Given the description of an element on the screen output the (x, y) to click on. 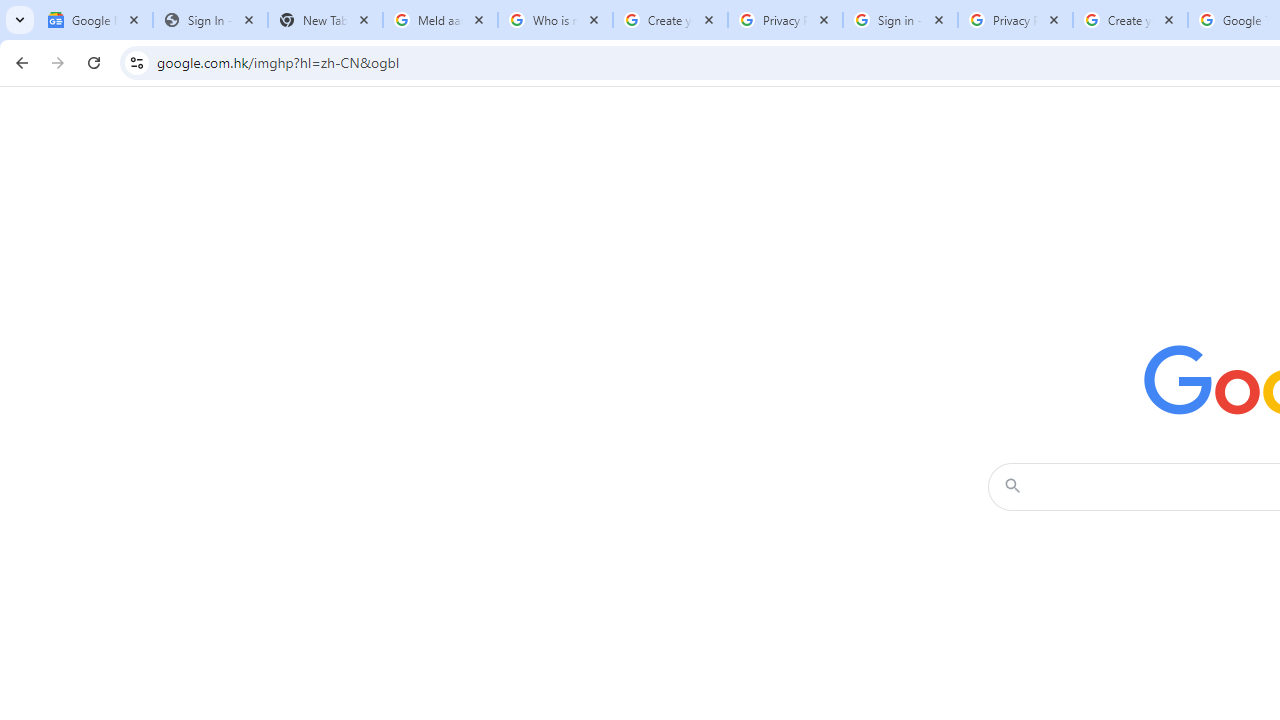
Google News (95, 20)
